Given the description of an element on the screen output the (x, y) to click on. 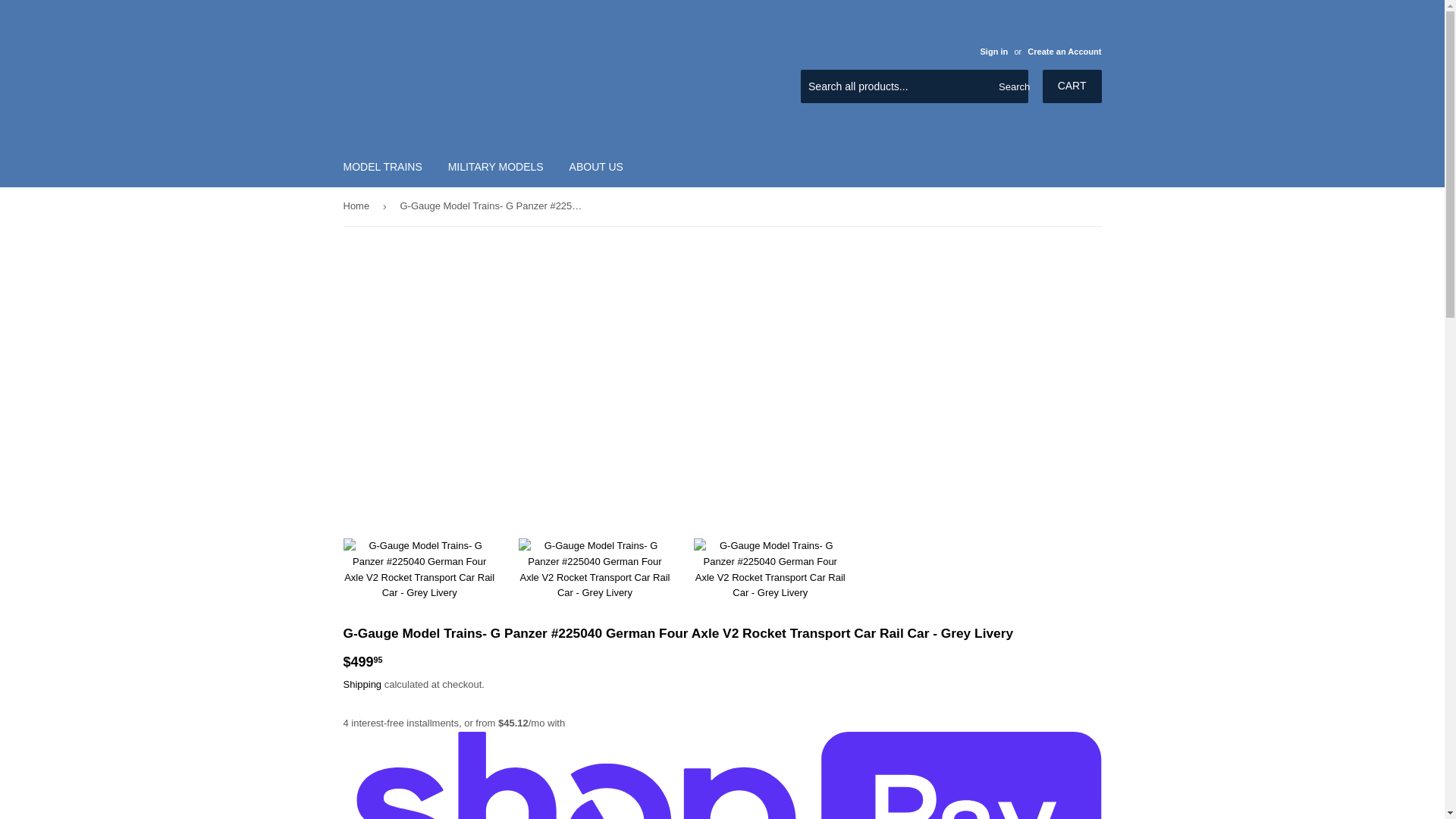
Create an Account (1063, 51)
Search (1010, 87)
Sign in (993, 51)
CART (1072, 86)
